Given the description of an element on the screen output the (x, y) to click on. 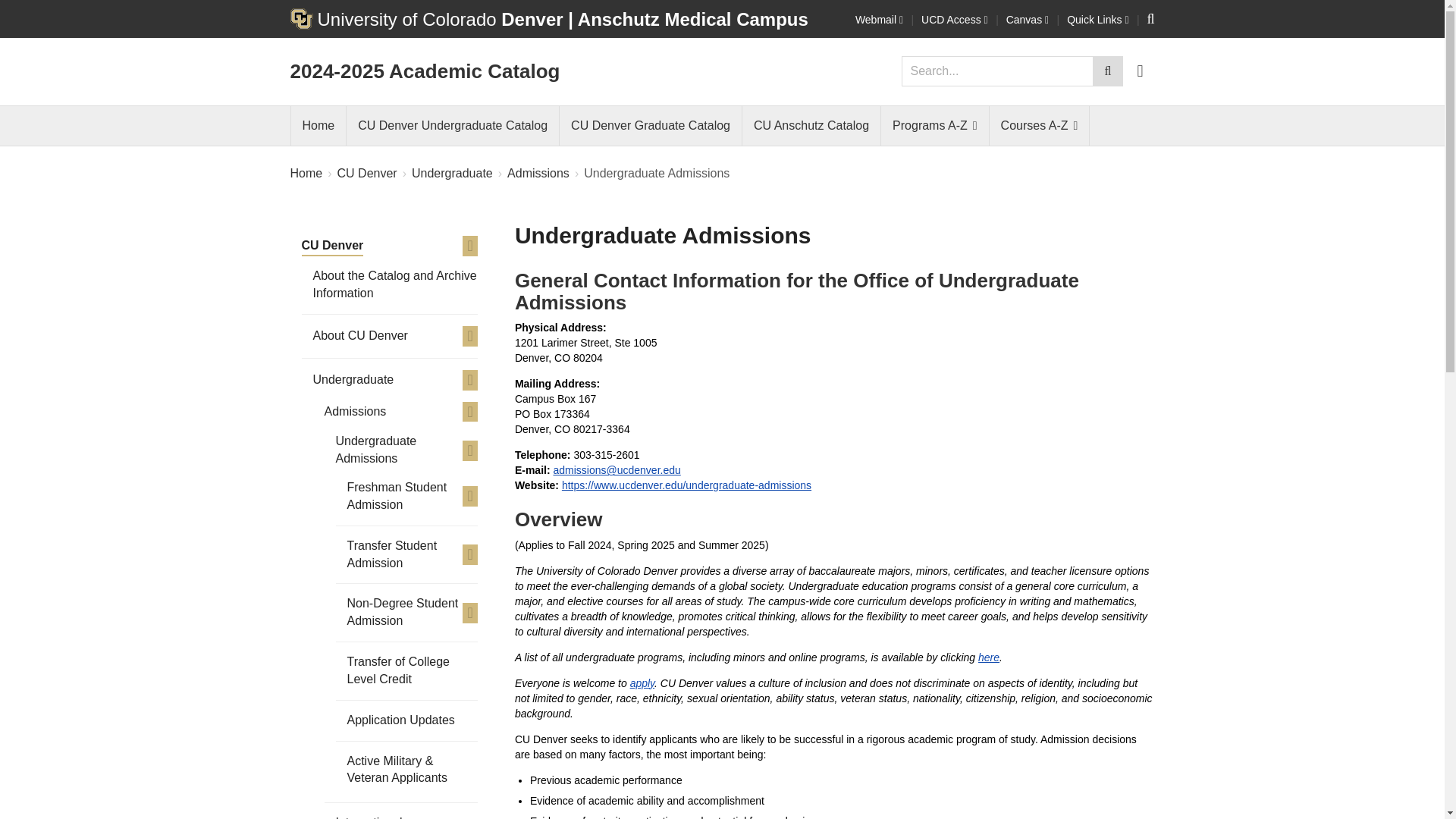
Quick Links (1097, 19)
Canvas (1027, 19)
UCD Access (954, 19)
Webmail (879, 19)
